Given the description of an element on the screen output the (x, y) to click on. 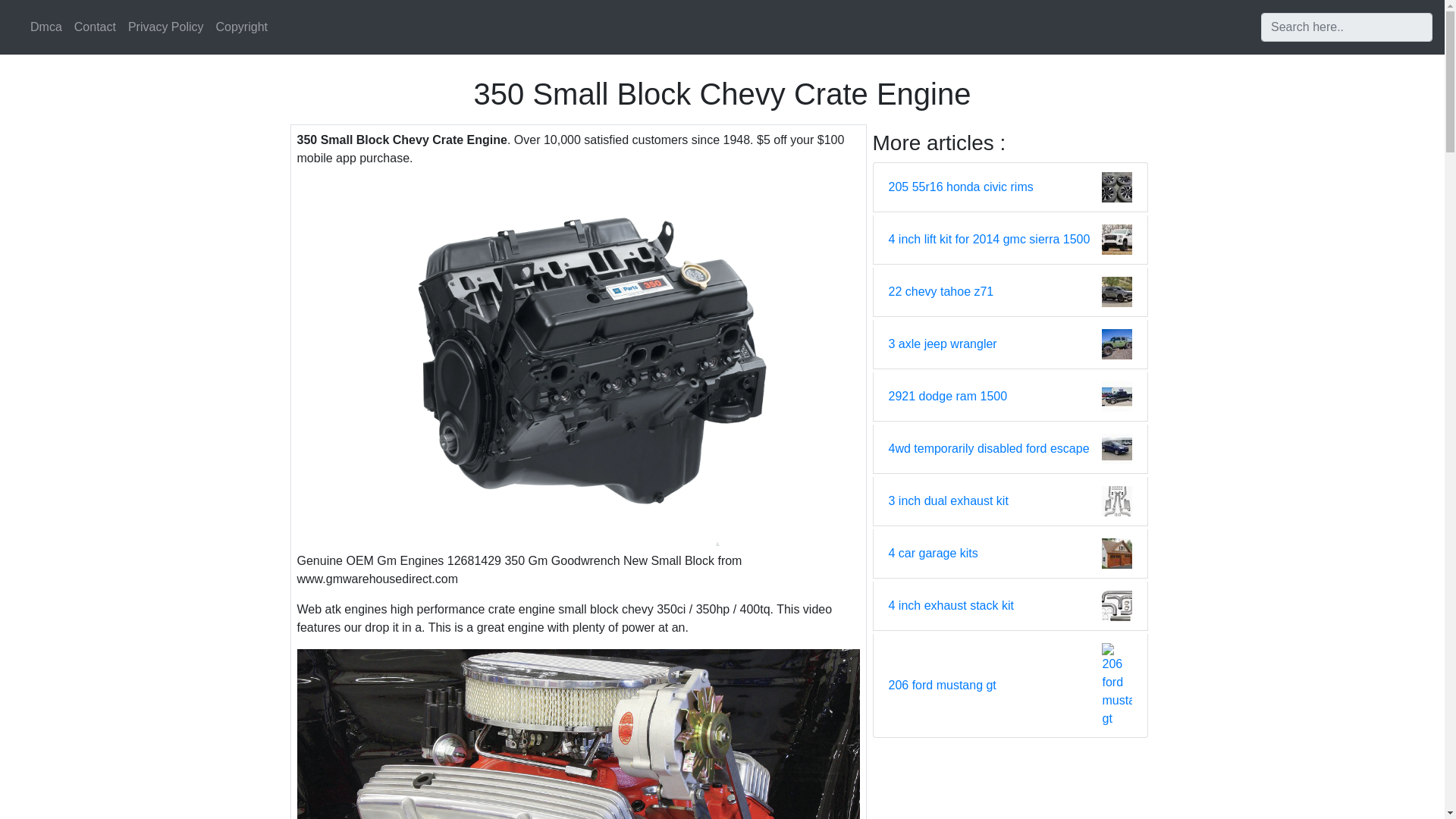
205 55r16 honda civic rims (960, 187)
Dmca (46, 27)
2921 dodge ram 1500 (947, 396)
4 inch lift kit for 2014 gmc sierra 1500 (989, 239)
22 chevy tahoe z71 (941, 291)
4 car garage kits (933, 553)
3 axle jeep wrangler (942, 343)
3 inch dual exhaust kit (948, 501)
4 inch exhaust stack kit (950, 606)
Copyright (241, 27)
